Given the description of an element on the screen output the (x, y) to click on. 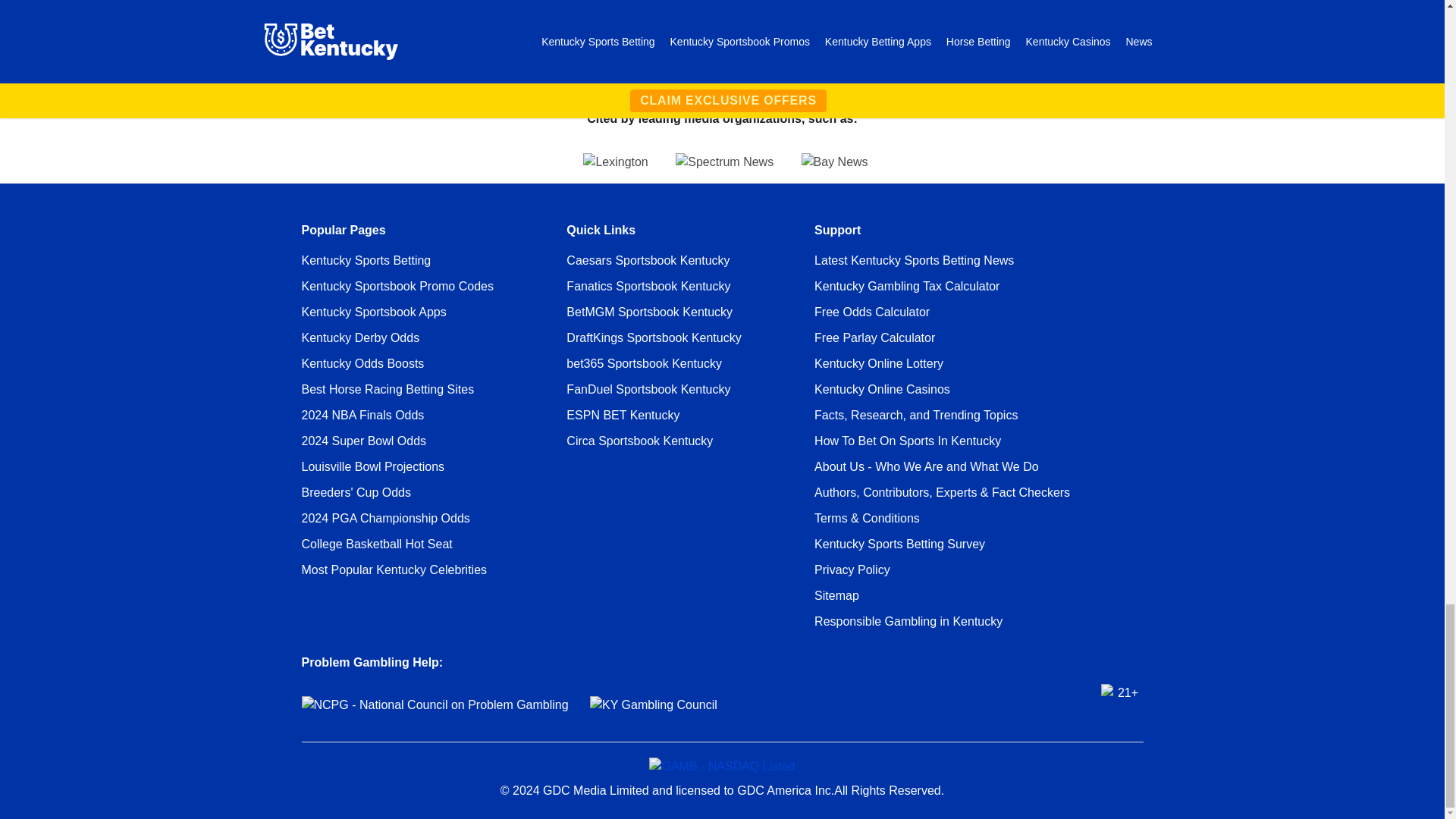
Steve Bittenbender (365, 14)
